Given the description of an element on the screen output the (x, y) to click on. 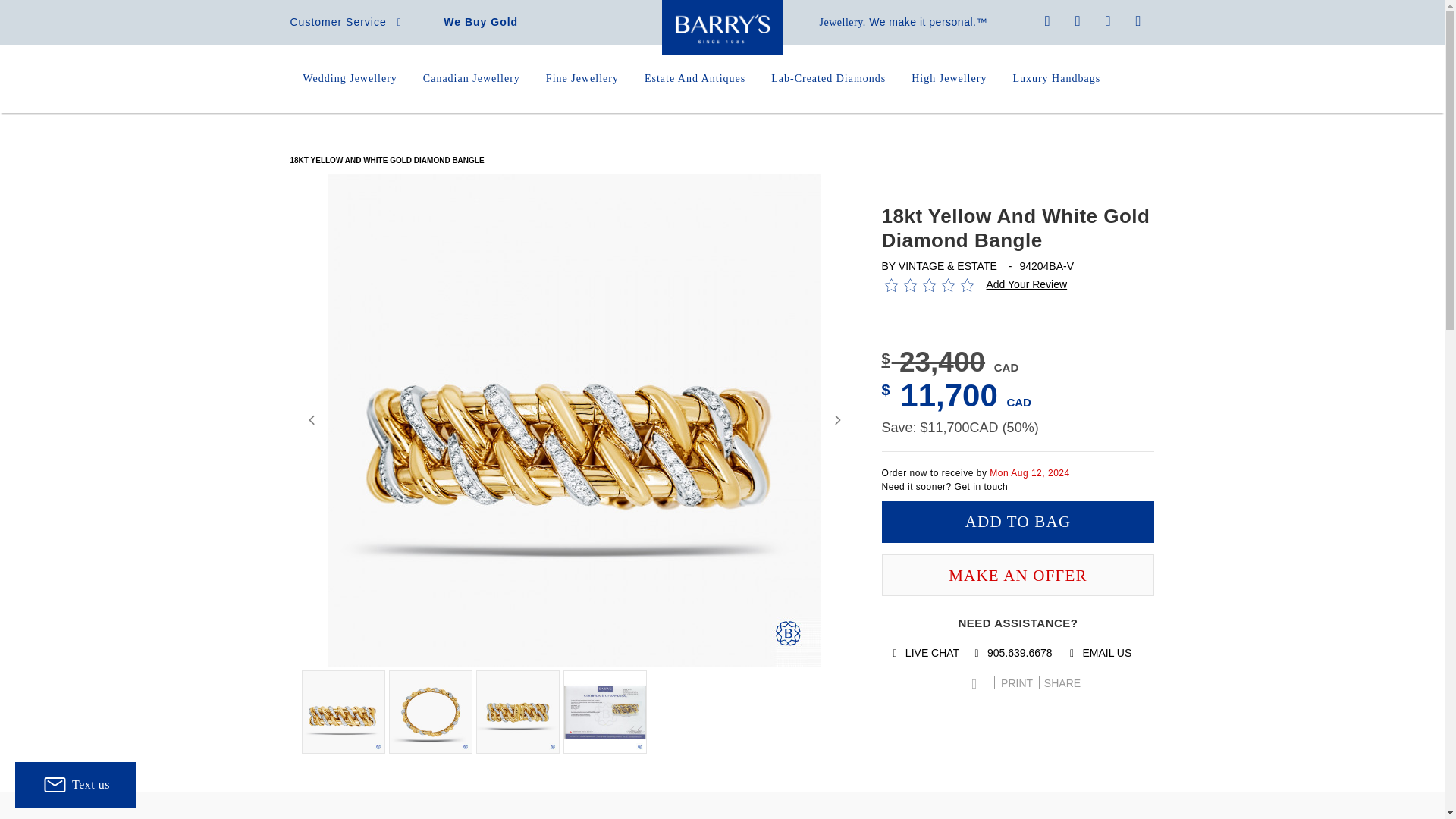
Add To Bag (1017, 521)
Search (1078, 21)
Canadian Jewellery (471, 79)
Wedding Jewellery (349, 79)
We Buy Gold (481, 21)
Shopping Bag (1137, 21)
Wishlist (1108, 21)
